Given the description of an element on the screen output the (x, y) to click on. 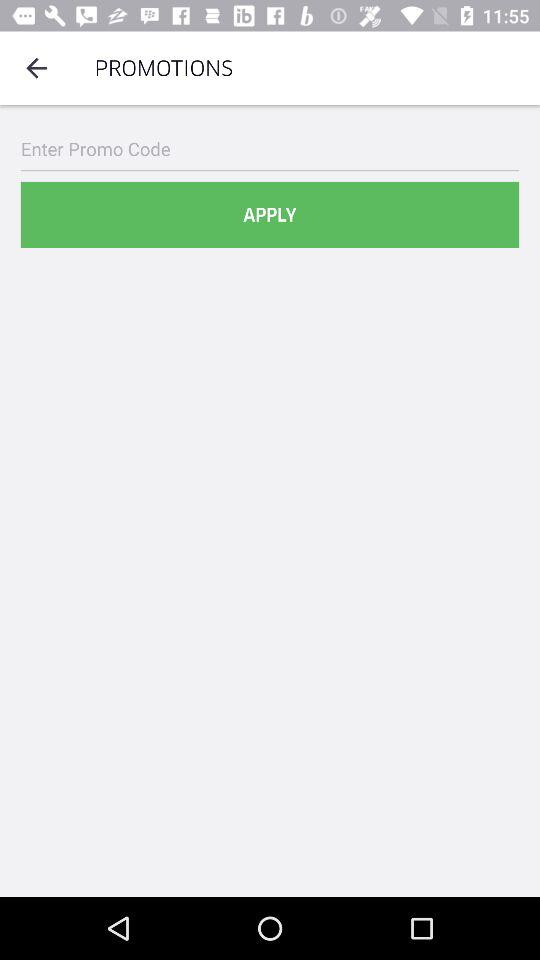
flip until apply (270, 214)
